Given the description of an element on the screen output the (x, y) to click on. 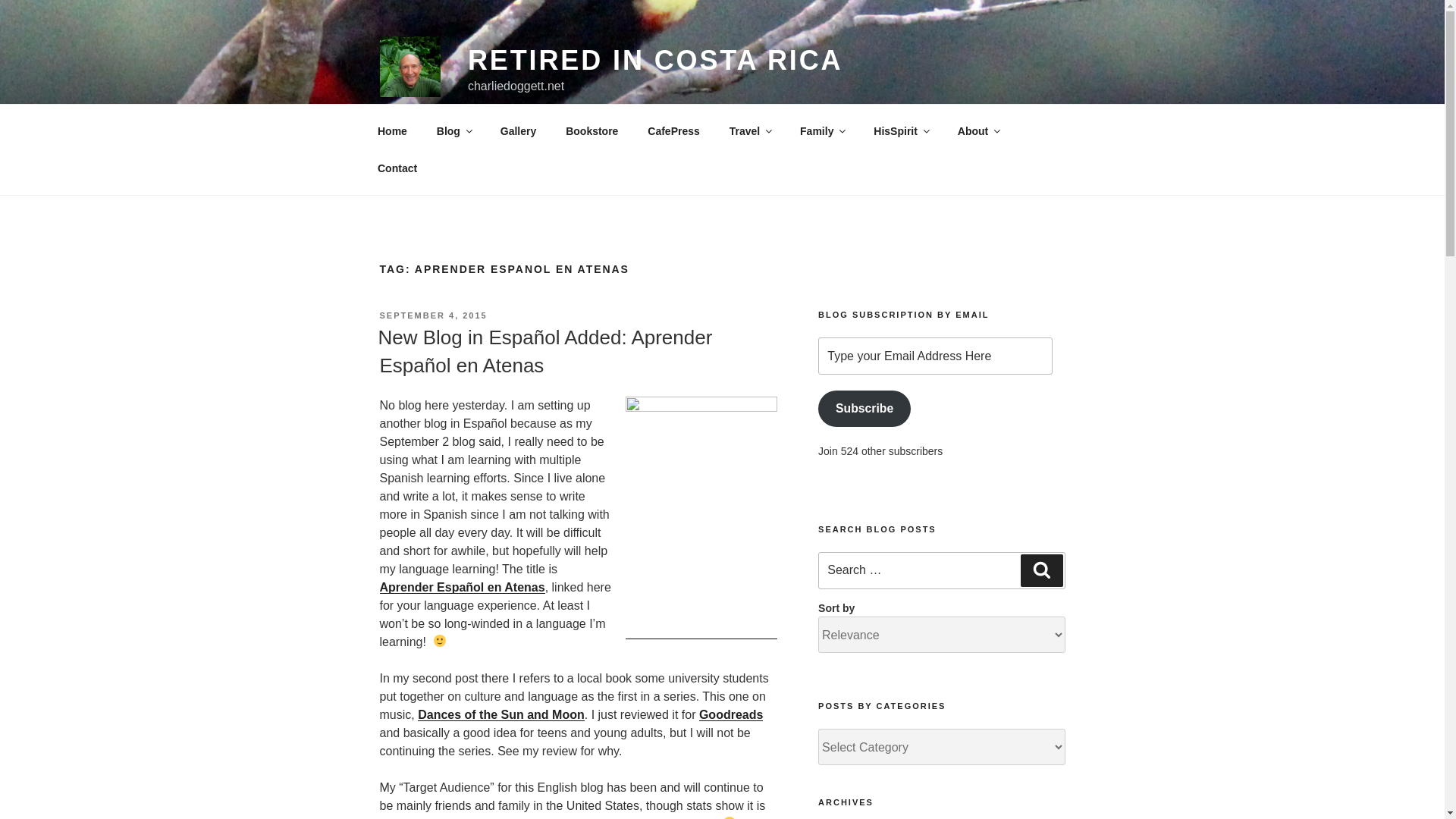
RETIRED IN COSTA RICA (655, 60)
Blog (453, 130)
Home (392, 130)
